Given the description of an element on the screen output the (x, y) to click on. 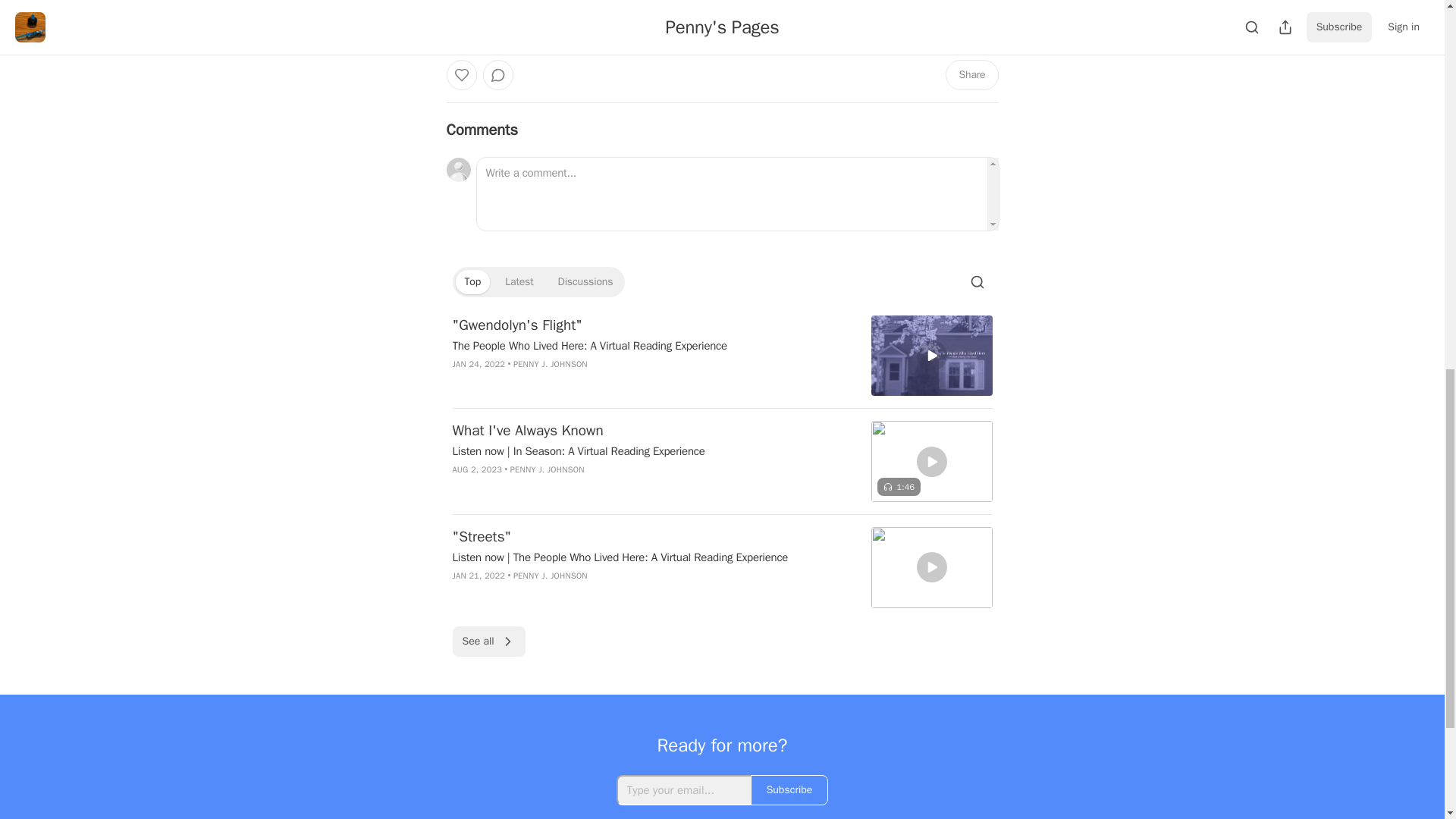
"Gwendolyn's Flight" (651, 324)
Latest (518, 282)
Top (471, 282)
Share (970, 74)
Subscribe (827, 11)
Discussions (585, 282)
The People Who Lived Here: A Virtual Reading Experience (651, 345)
